Given the description of an element on the screen output the (x, y) to click on. 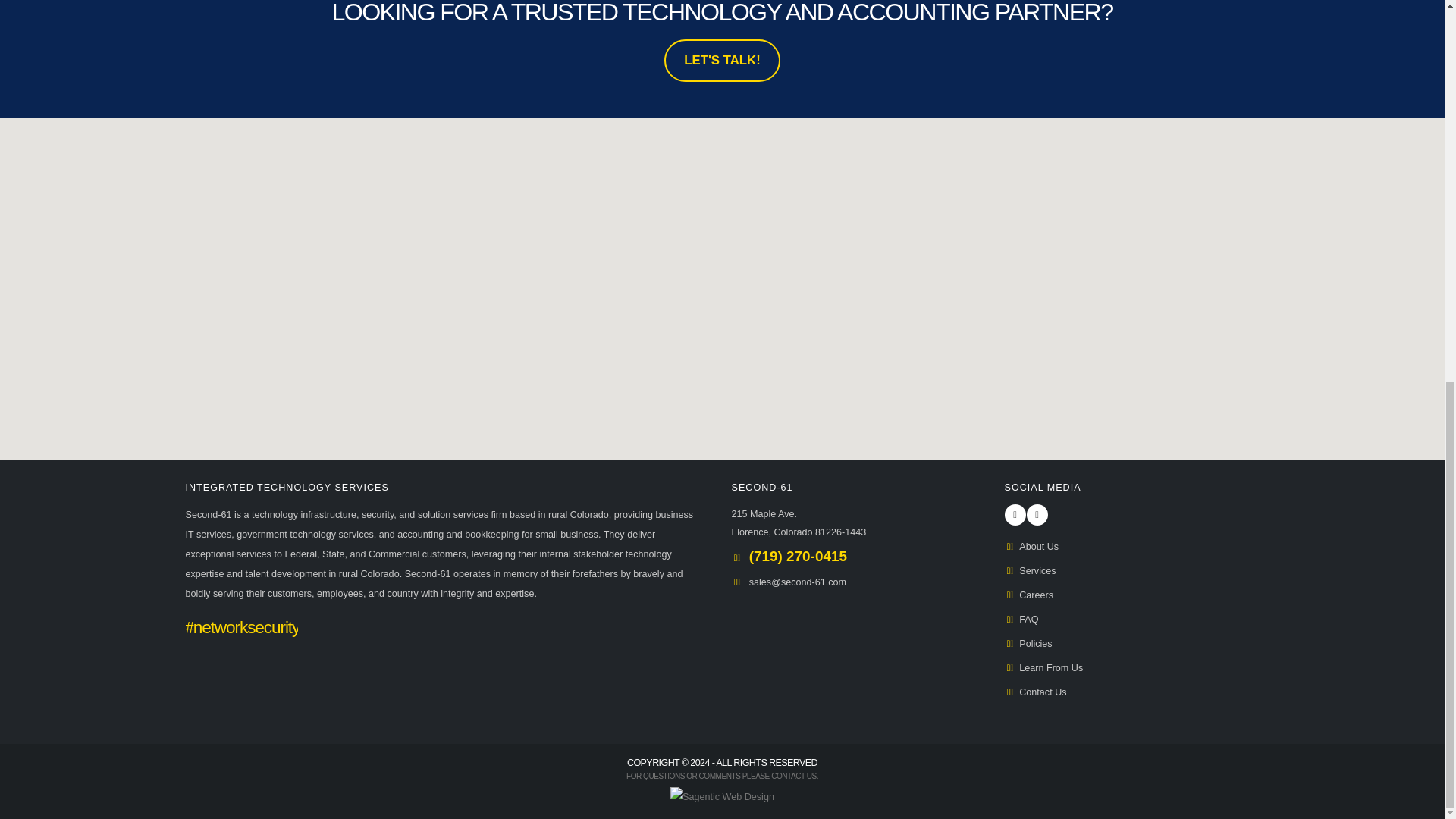
Facebook (1014, 514)
Careers (798, 522)
Services (1028, 594)
FOR QUESTIONS OR COMMENTS PLEASE CONTACT US. (1029, 570)
Linkedin (722, 776)
LET'S TALK! (1037, 514)
Contact Us (721, 60)
About Us (1034, 692)
Learn From Us (1031, 546)
